Given the description of an element on the screen output the (x, y) to click on. 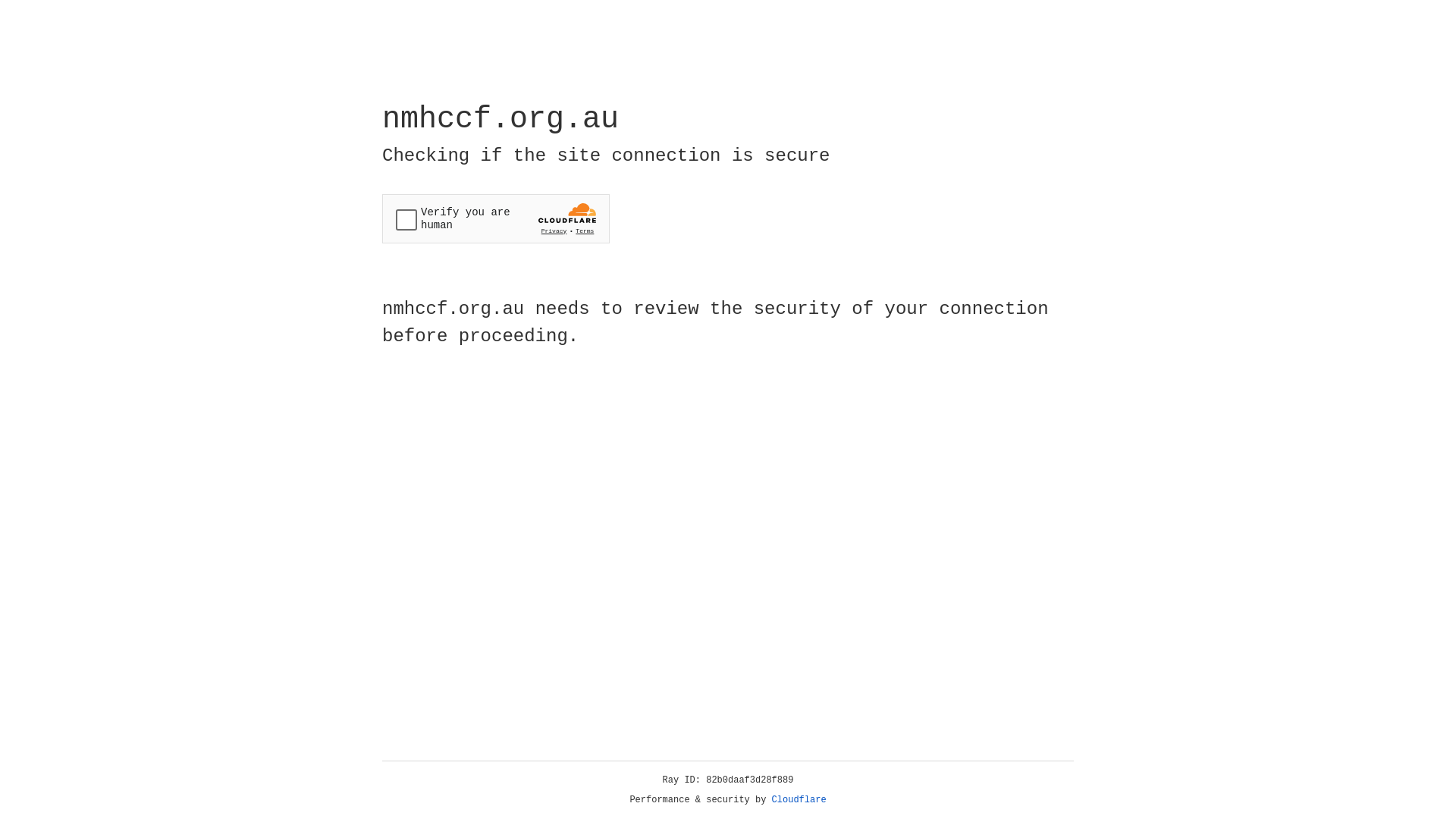
Widget containing a Cloudflare security challenge Element type: hover (495, 218)
Cloudflare Element type: text (798, 799)
